Given the description of an element on the screen output the (x, y) to click on. 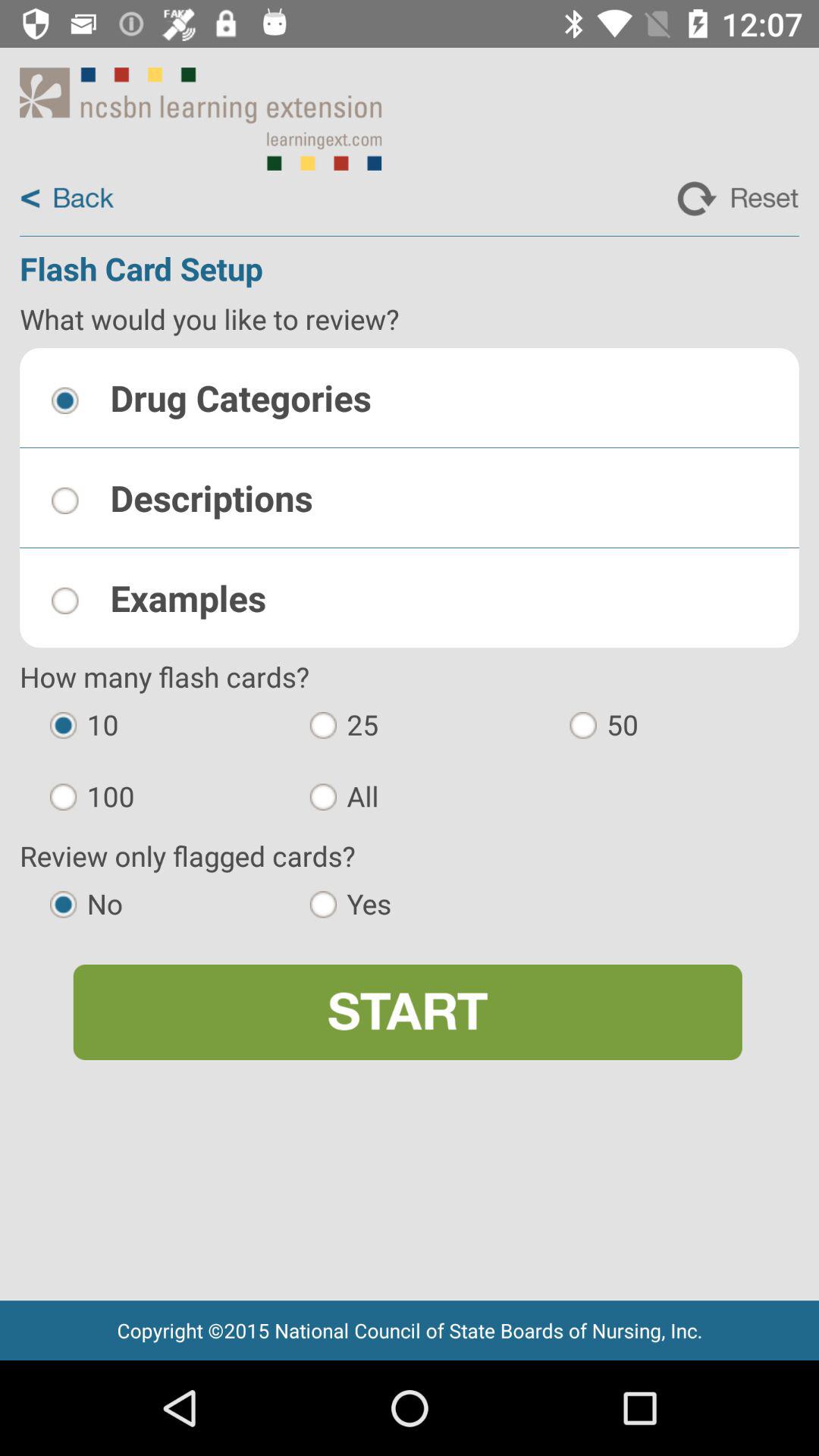
choose icon below no app (407, 1012)
